Given the description of an element on the screen output the (x, y) to click on. 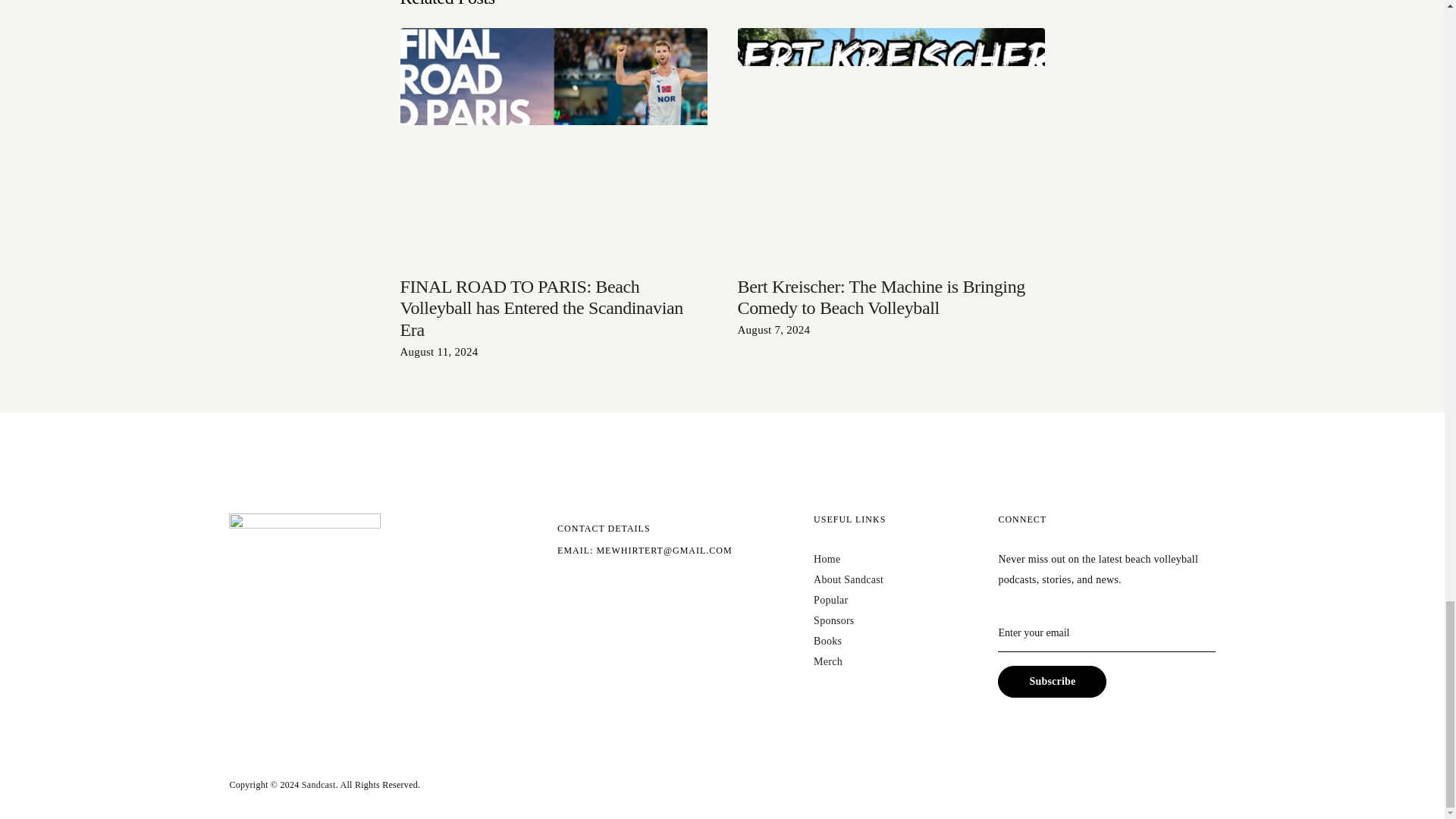
Sponsors (833, 620)
Books (827, 641)
Sandcast. (319, 784)
Merch (828, 661)
About Sandcast (848, 579)
Popular (830, 600)
Home (826, 559)
Subscribe (1051, 681)
